Given the description of an element on the screen output the (x, y) to click on. 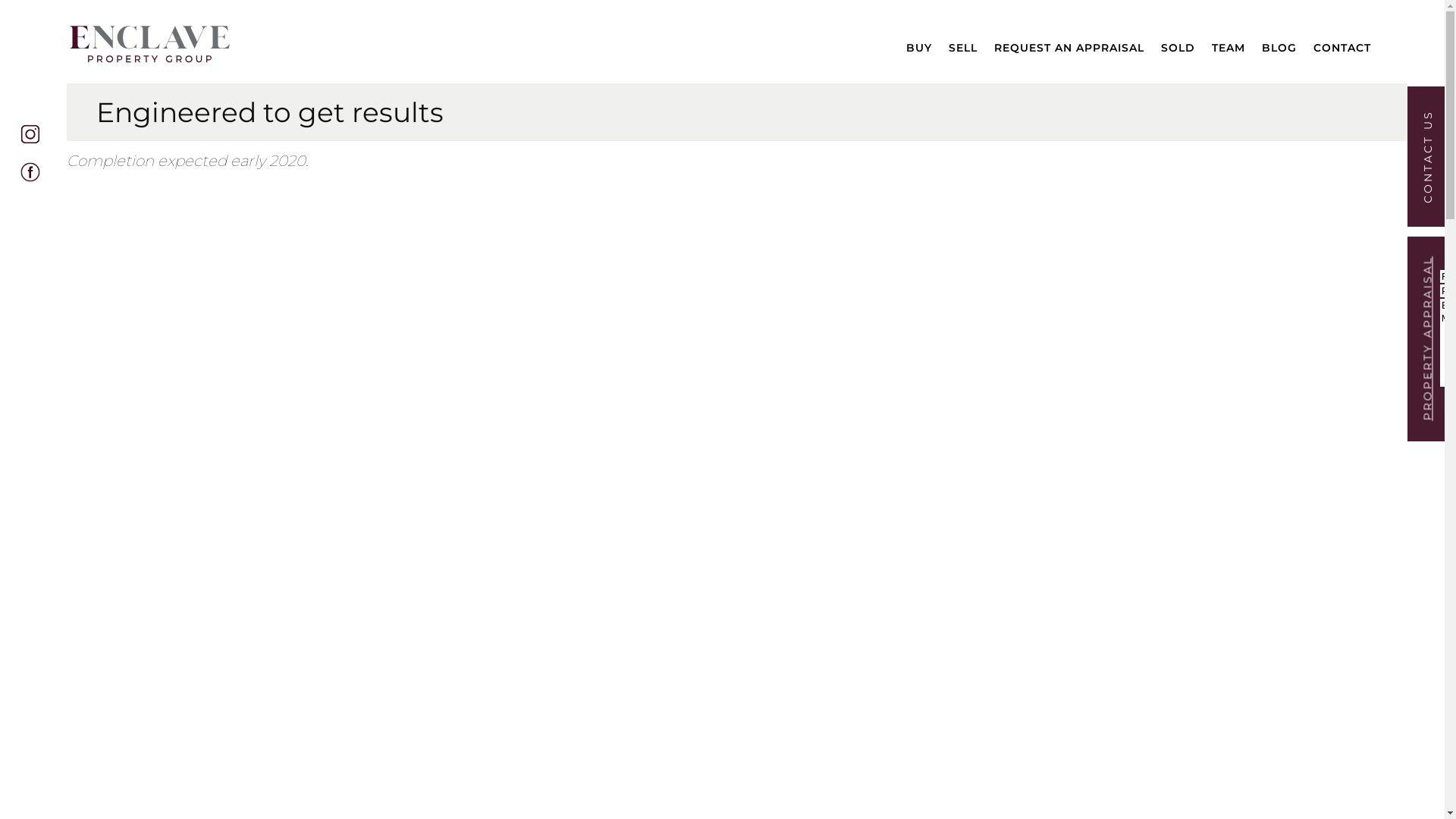
BUY Element type: text (918, 44)
REQUEST AN APPRAISAL Element type: text (1069, 44)
CONTACT Element type: text (1342, 44)
SOLD Element type: text (1178, 44)
TEAM Element type: text (1228, 44)
SELL Element type: text (962, 44)
BLOG Element type: text (1278, 44)
